Given the description of an element on the screen output the (x, y) to click on. 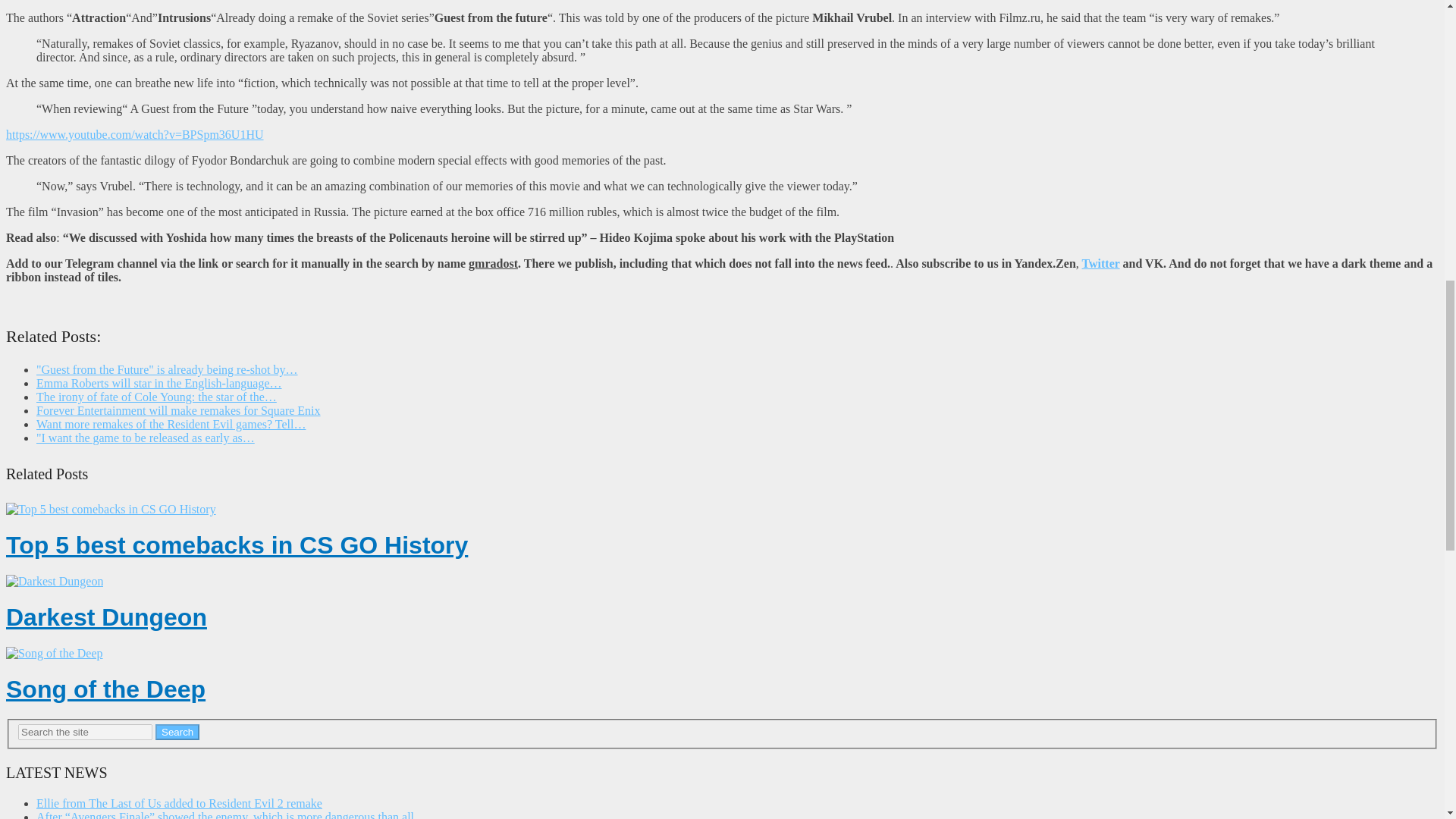
Top 5 best comebacks in CS GO History (110, 509)
Song of the Deep (54, 653)
Darkest Dungeon (105, 616)
Darkest Dungeon (54, 581)
Song of the Deep (105, 688)
Top 5 best comebacks in CS GO History (236, 544)
